Given the description of an element on the screen output the (x, y) to click on. 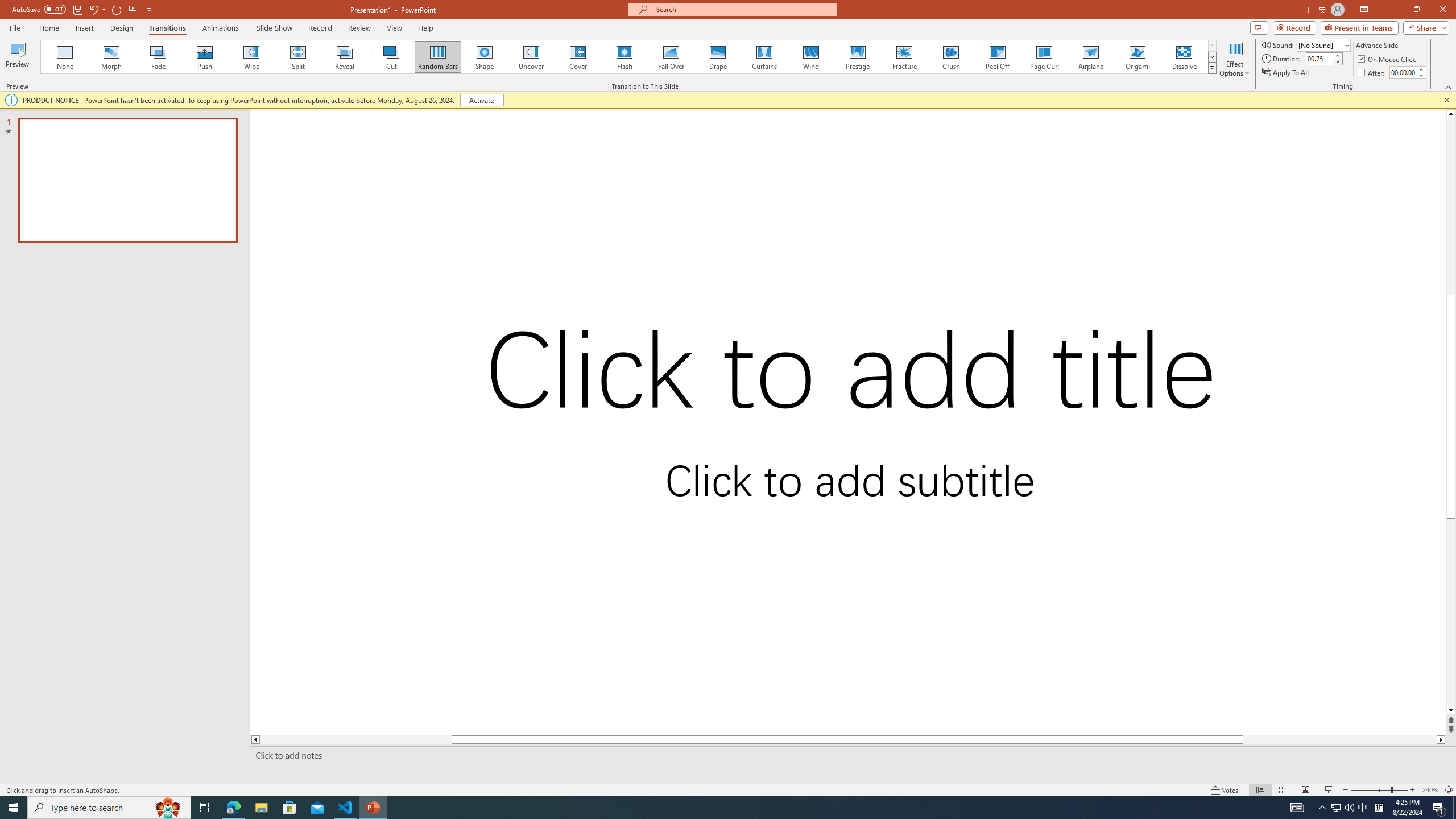
Sound (1324, 44)
Curtains (764, 56)
Reveal (344, 56)
